Given the description of an element on the screen output the (x, y) to click on. 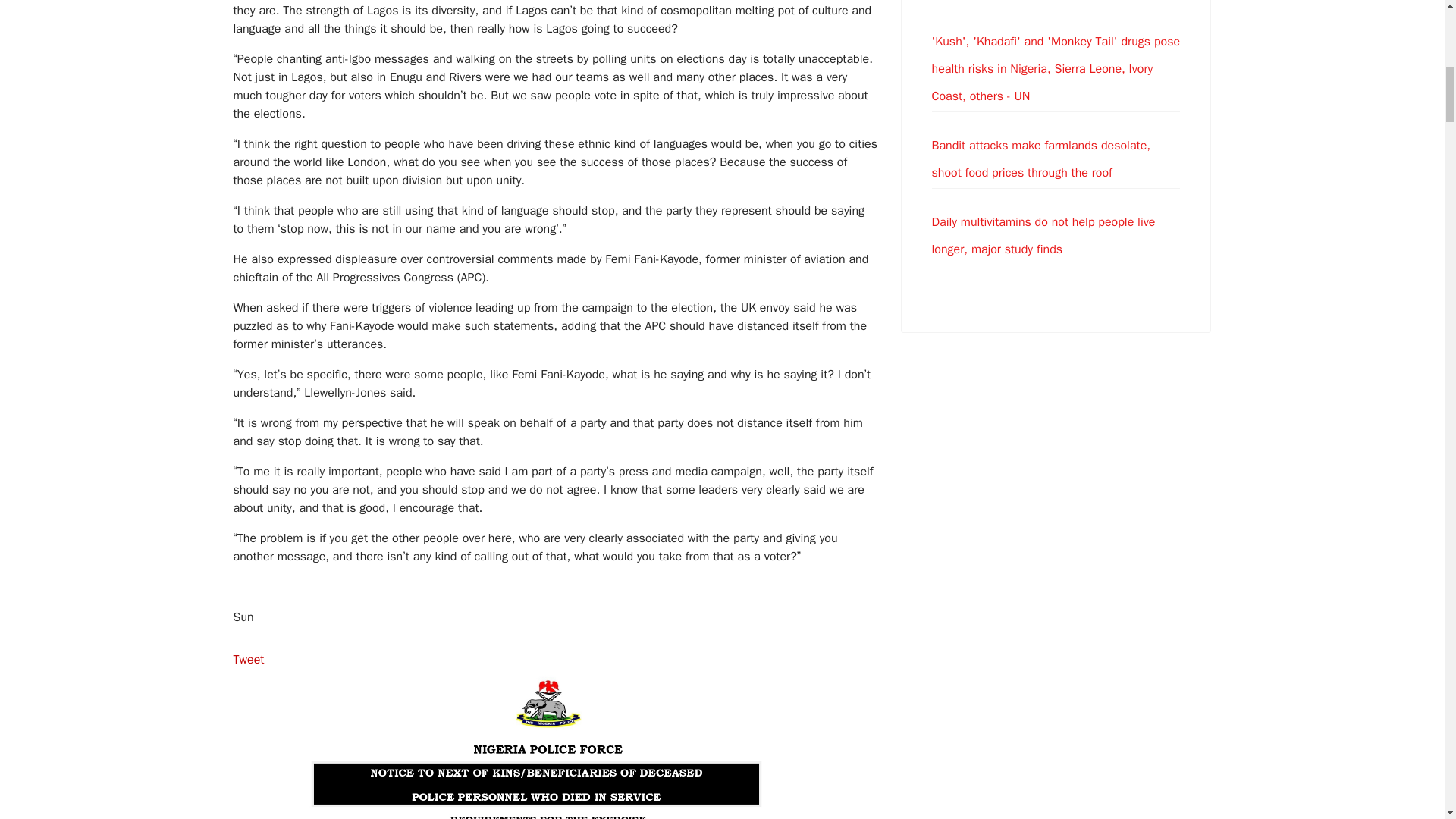
Tweet (248, 659)
